Given the description of an element on the screen output the (x, y) to click on. 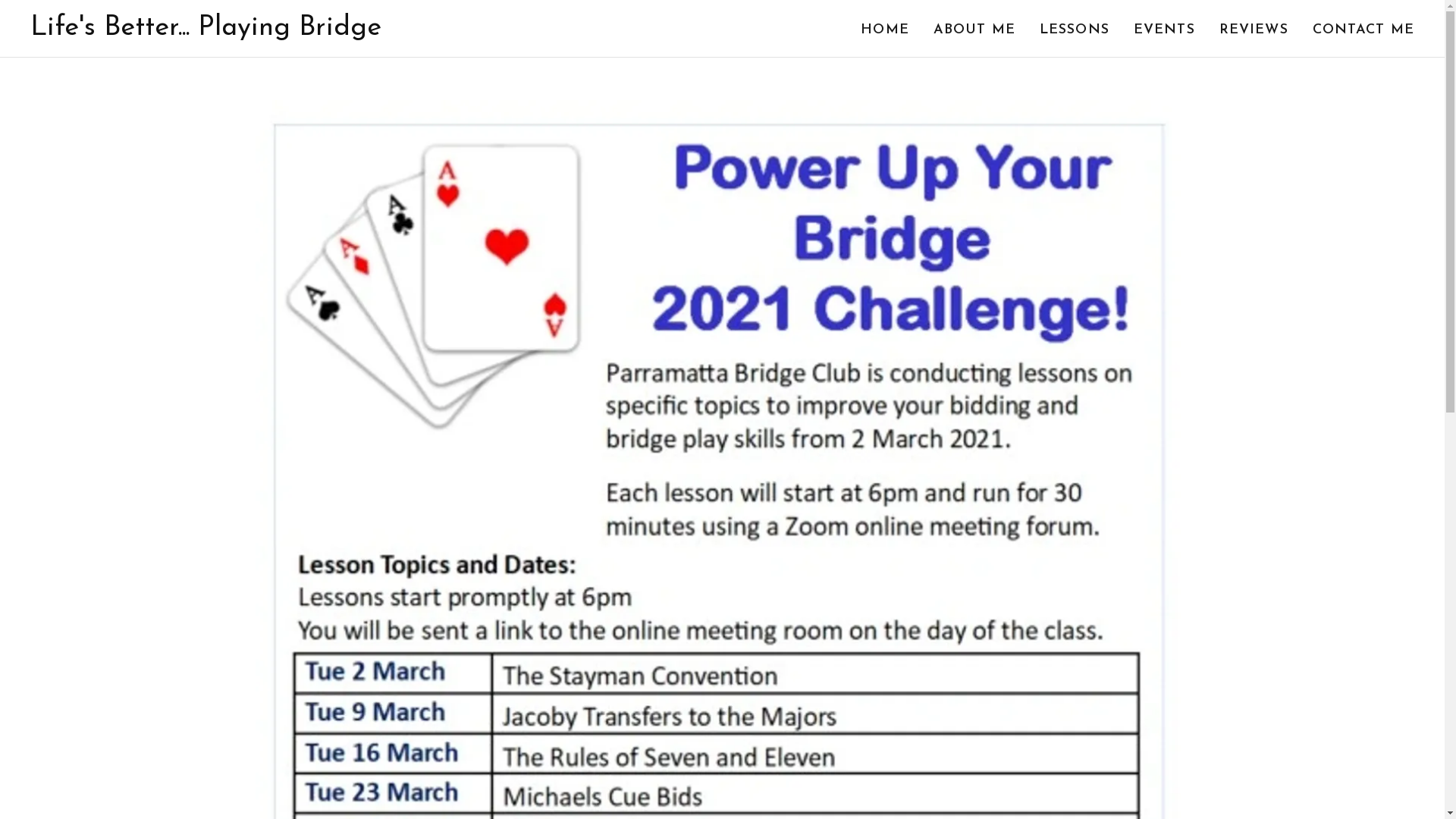
REVIEWS Element type: text (1253, 29)
EVENTS Element type: text (1164, 29)
ABOUT ME Element type: text (973, 29)
Life's Better... Playing Bridge Element type: text (205, 31)
LESSONS Element type: text (1074, 29)
CONTACT ME Element type: text (1363, 29)
HOME Element type: text (884, 29)
